Given the description of an element on the screen output the (x, y) to click on. 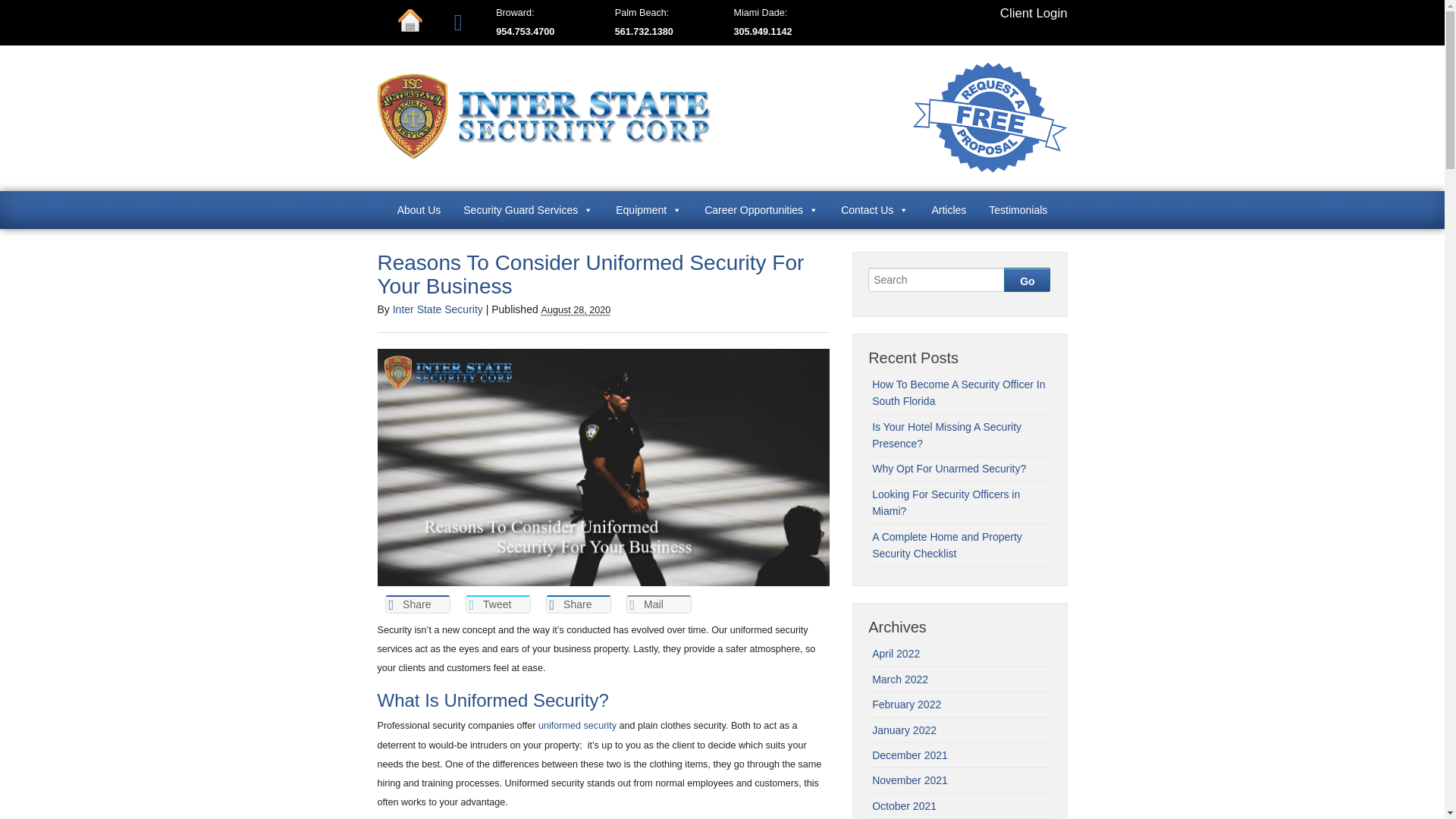
Share on Digg (578, 603)
Client Login (1033, 12)
View all articles by Inter State Security (438, 309)
Equipment (648, 209)
Articles (948, 209)
Share (417, 603)
Inter State Security Corporation (544, 154)
Security Guard Services (527, 209)
Share on Twitter (498, 603)
Share it on Email (658, 603)
Career Opportunities (761, 209)
Mail (658, 603)
About Us (418, 209)
Testimonials (1017, 209)
